Given the description of an element on the screen output the (x, y) to click on. 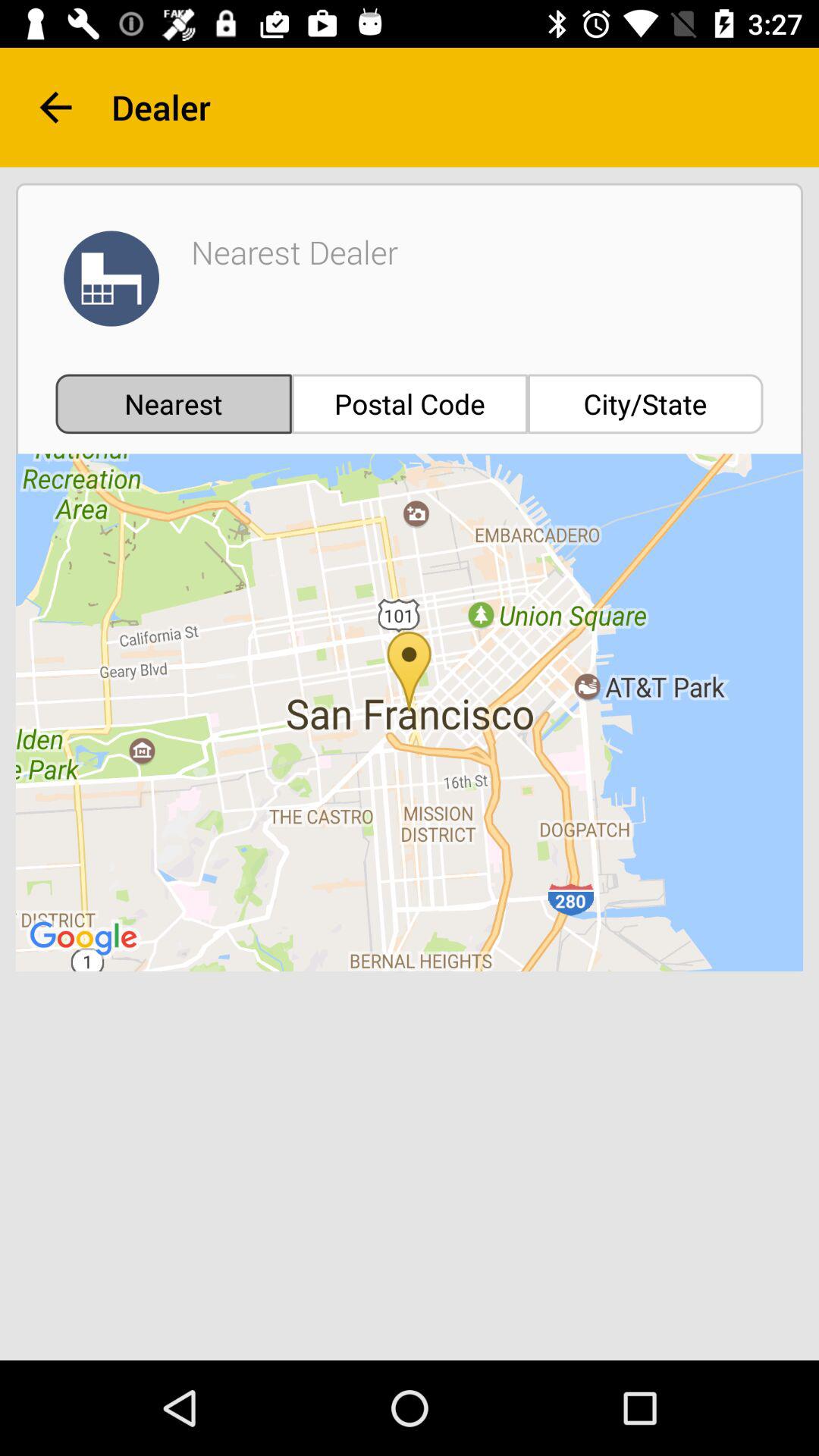
turn on item below the dealer item (645, 403)
